Given the description of an element on the screen output the (x, y) to click on. 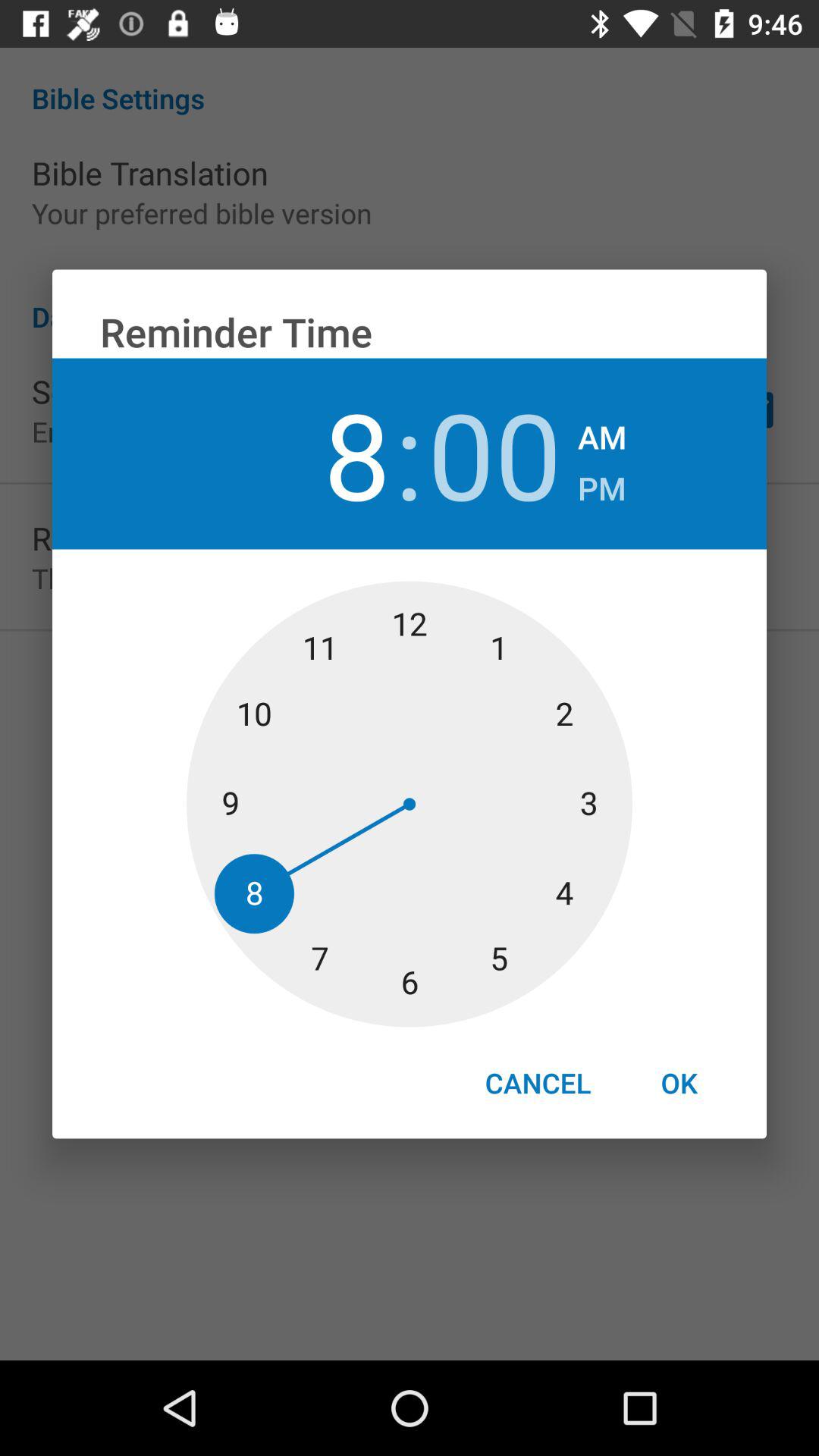
flip until the 8 icon (323, 453)
